Given the description of an element on the screen output the (x, y) to click on. 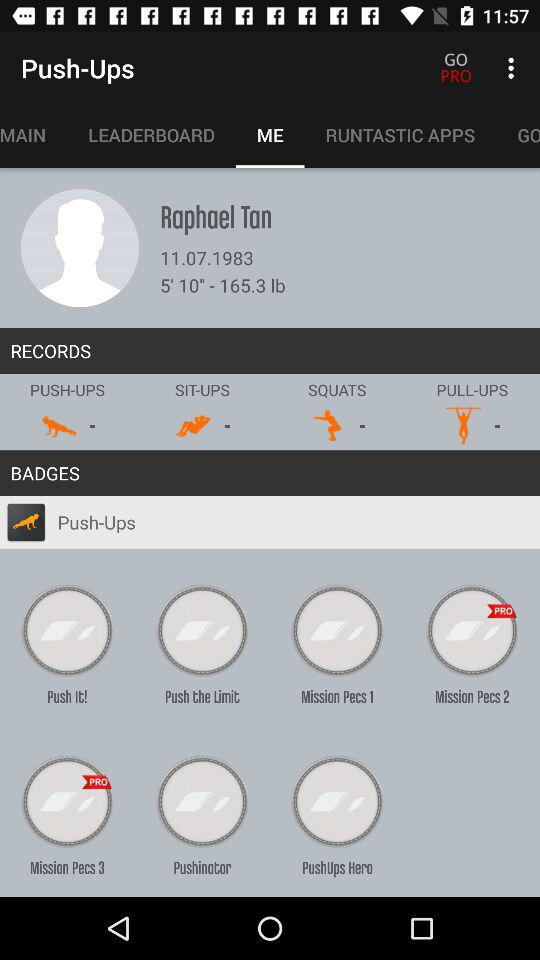
turn on item next to the me item (400, 135)
